Given the description of an element on the screen output the (x, y) to click on. 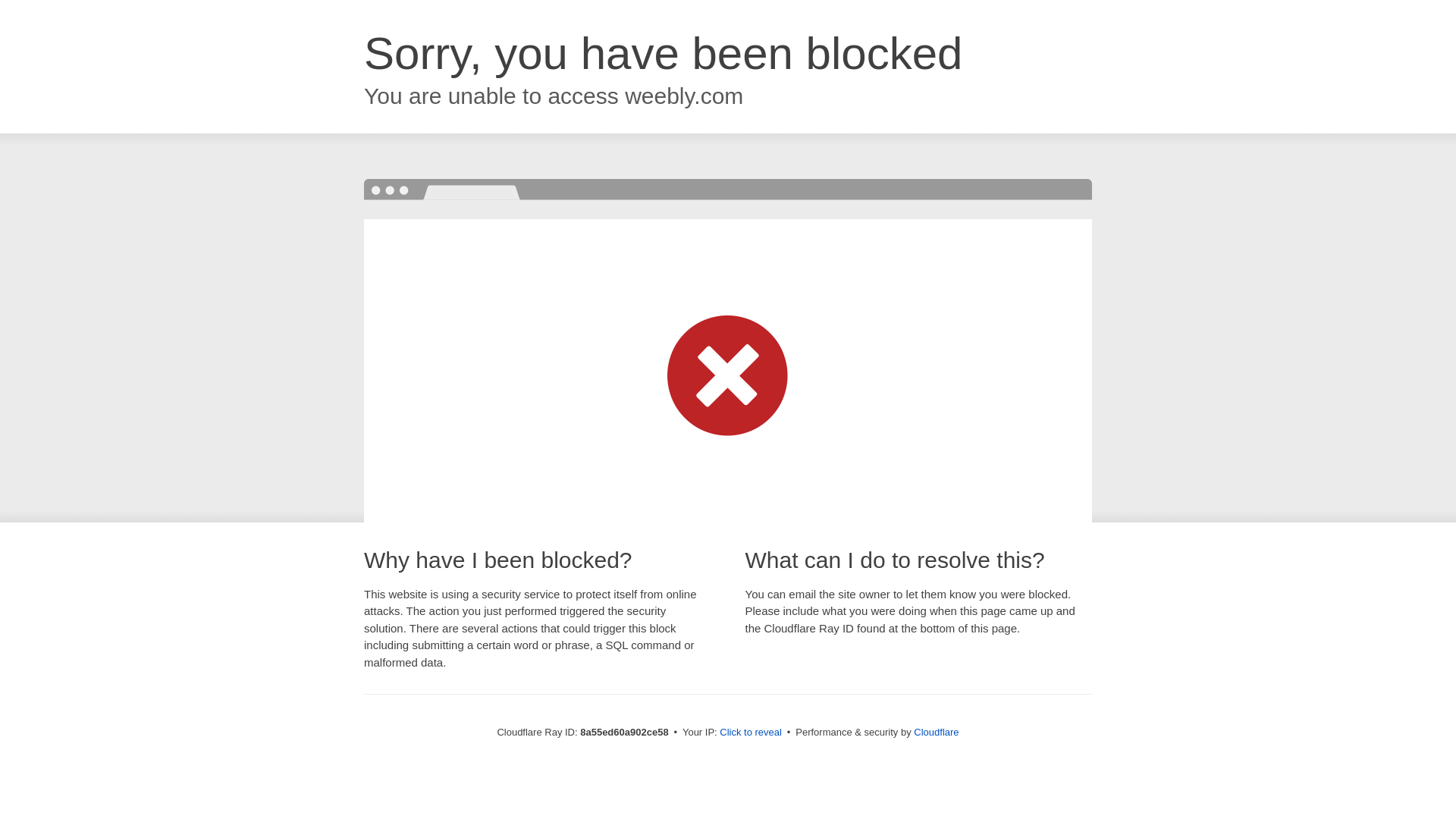
Cloudflare (936, 731)
Click to reveal (750, 732)
